Given the description of an element on the screen output the (x, y) to click on. 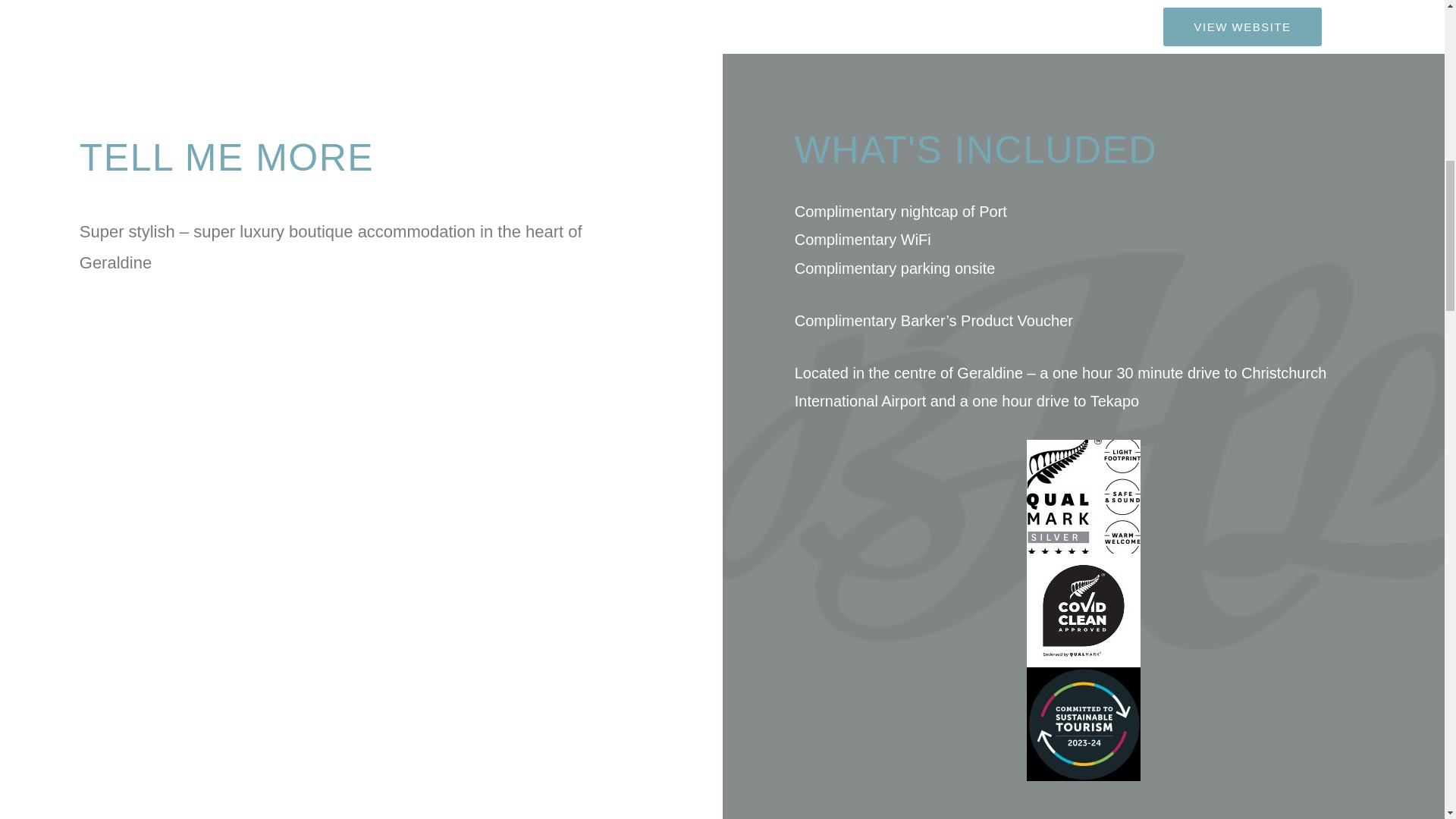
The Vicarage Geraldine (361, 445)
